Given the description of an element on the screen output the (x, y) to click on. 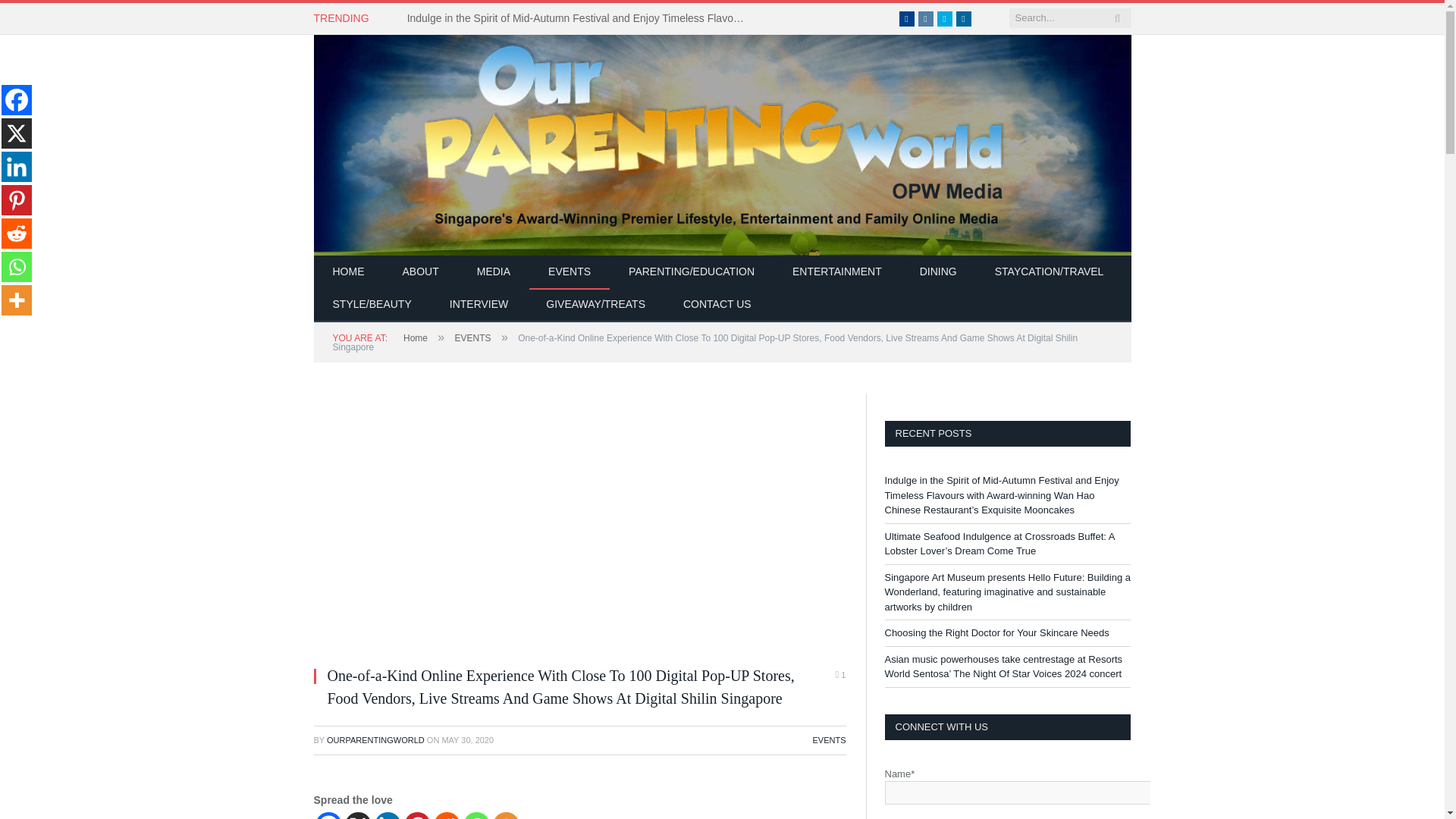
ENTERTAINMENT (837, 272)
Facebook (906, 18)
ABOUT (421, 272)
CONTACT US (716, 305)
EVENTS (569, 272)
Twitter (944, 18)
linkedin (963, 18)
linkedin (963, 18)
Home (415, 337)
INTERVIEW (478, 305)
